Given the description of an element on the screen output the (x, y) to click on. 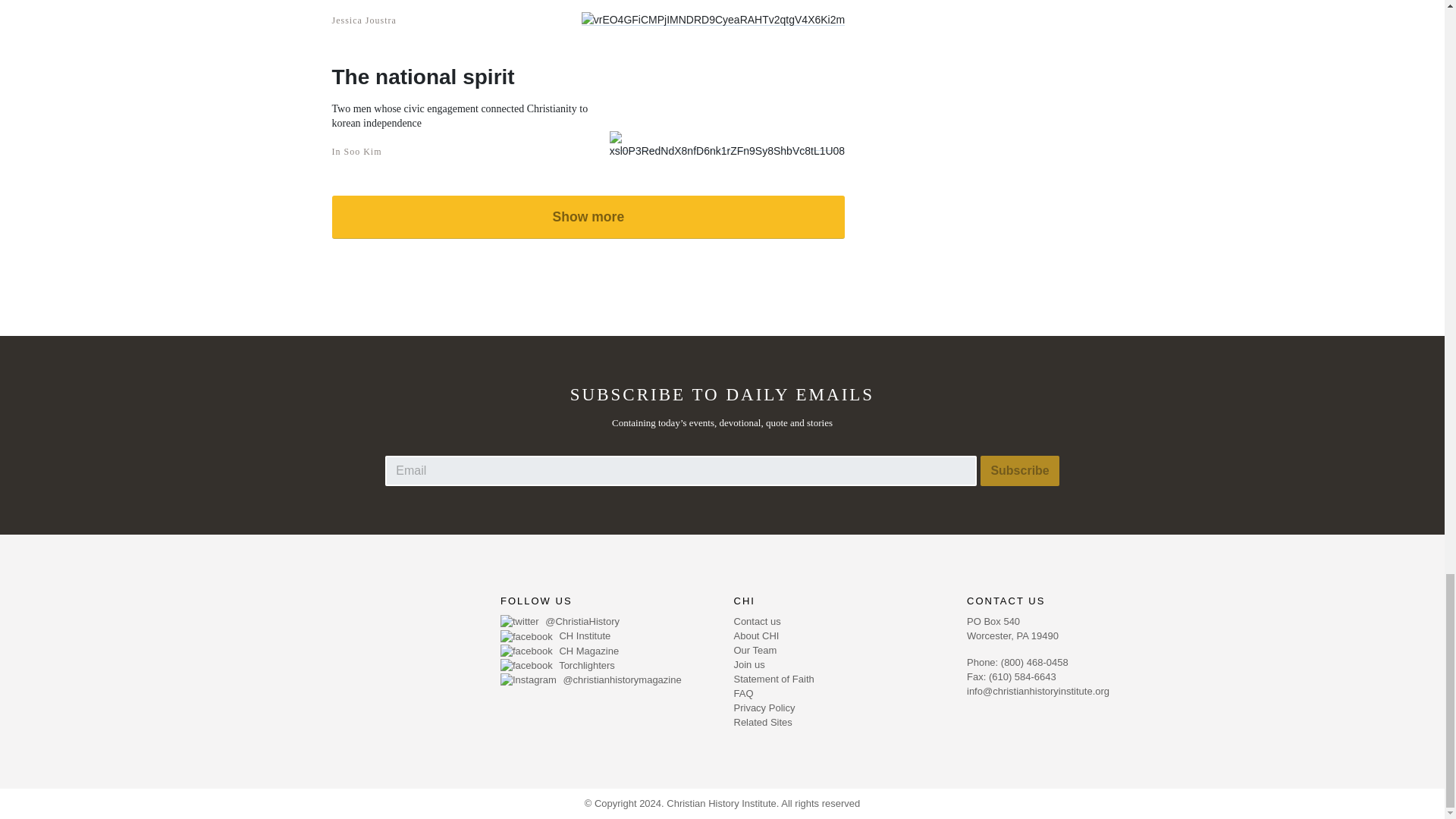
Subscribe (1018, 470)
The national spirit (470, 77)
Show more (588, 217)
